Given the description of an element on the screen output the (x, y) to click on. 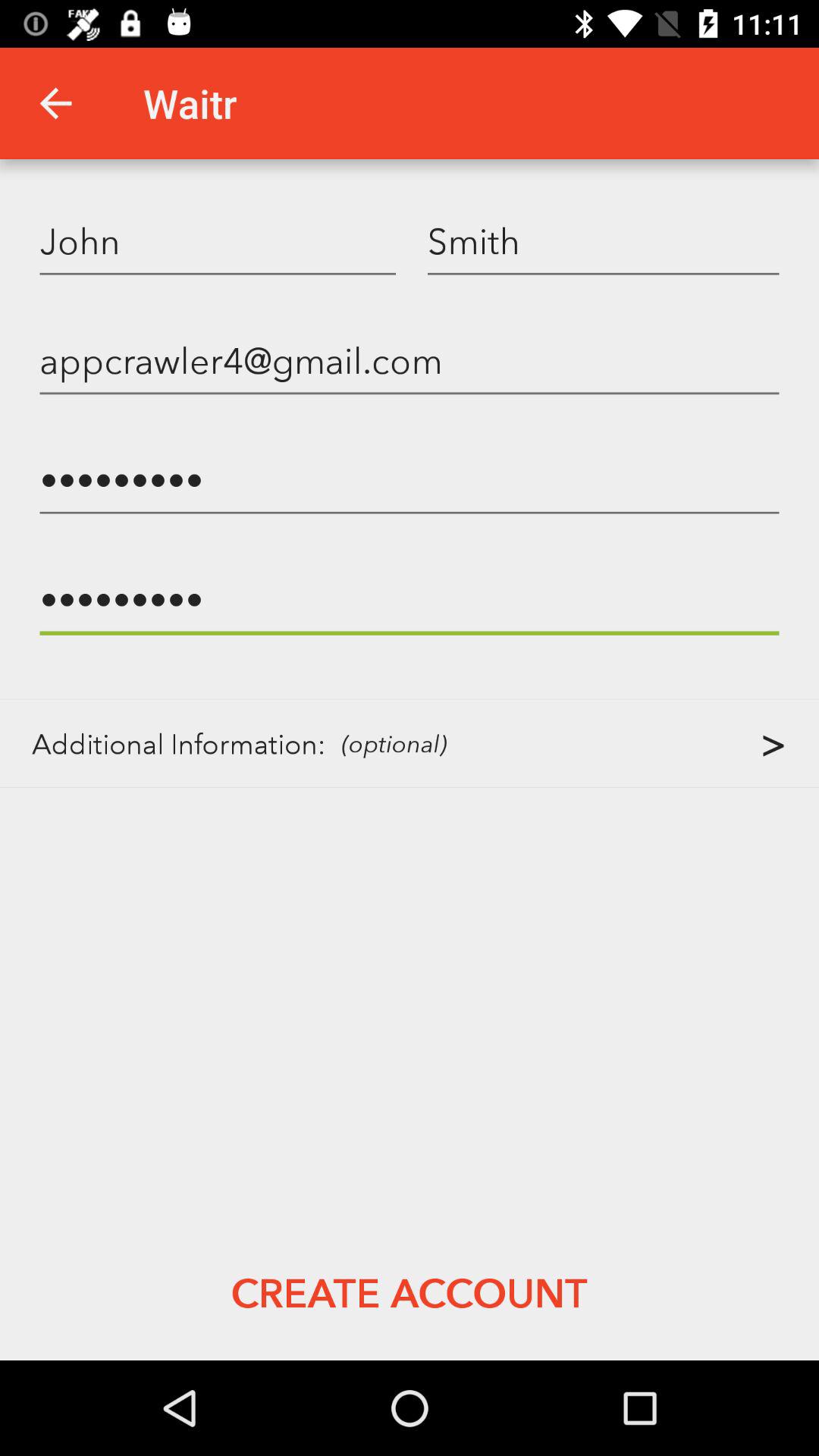
open item next to smith (217, 240)
